Given the description of an element on the screen output the (x, y) to click on. 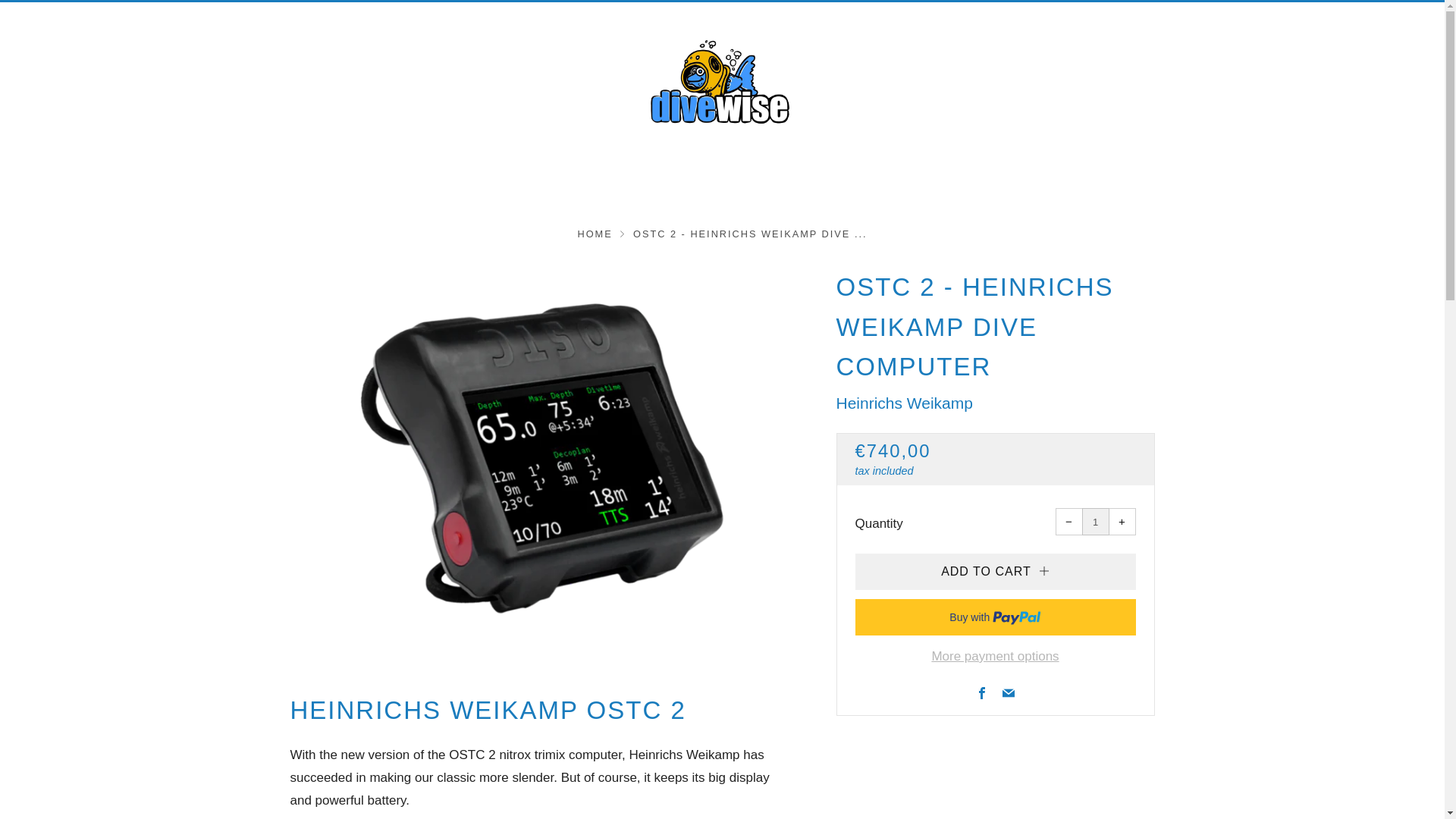
Heinrichs Weikamp (903, 402)
1 (1094, 521)
Home (593, 233)
